Given the description of an element on the screen output the (x, y) to click on. 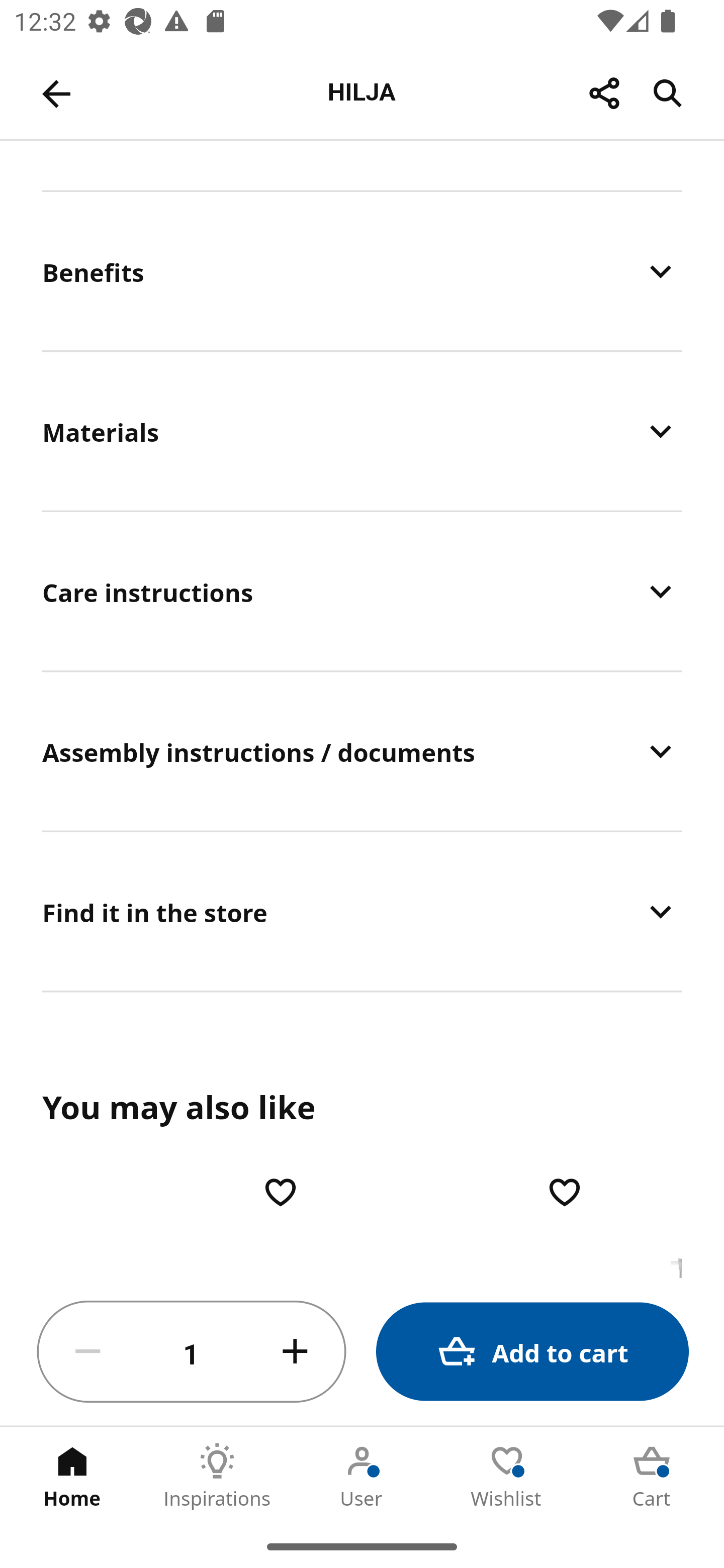
Benefits (361, 271)
Materials (361, 431)
Care instructions (361, 591)
Assembly instructions / documents (361, 751)
Find it in the store (361, 911)
Add to cart (531, 1352)
1 (191, 1352)
Home
Tab 1 of 5 (72, 1476)
Inspirations
Tab 2 of 5 (216, 1476)
User
Tab 3 of 5 (361, 1476)
Wishlist
Tab 4 of 5 (506, 1476)
Cart
Tab 5 of 5 (651, 1476)
